Given the description of an element on the screen output the (x, y) to click on. 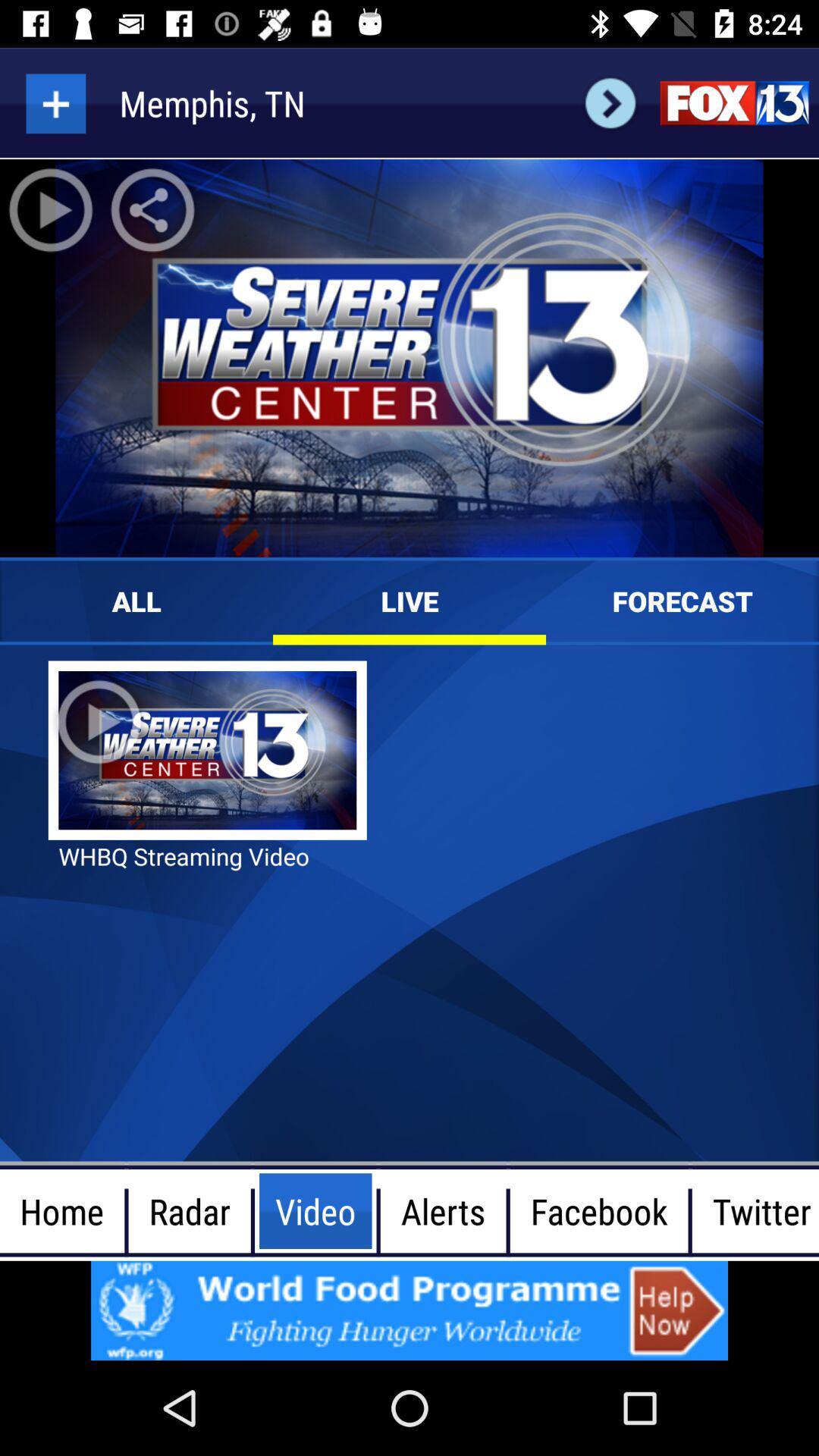
open advertisement (409, 1310)
